Given the description of an element on the screen output the (x, y) to click on. 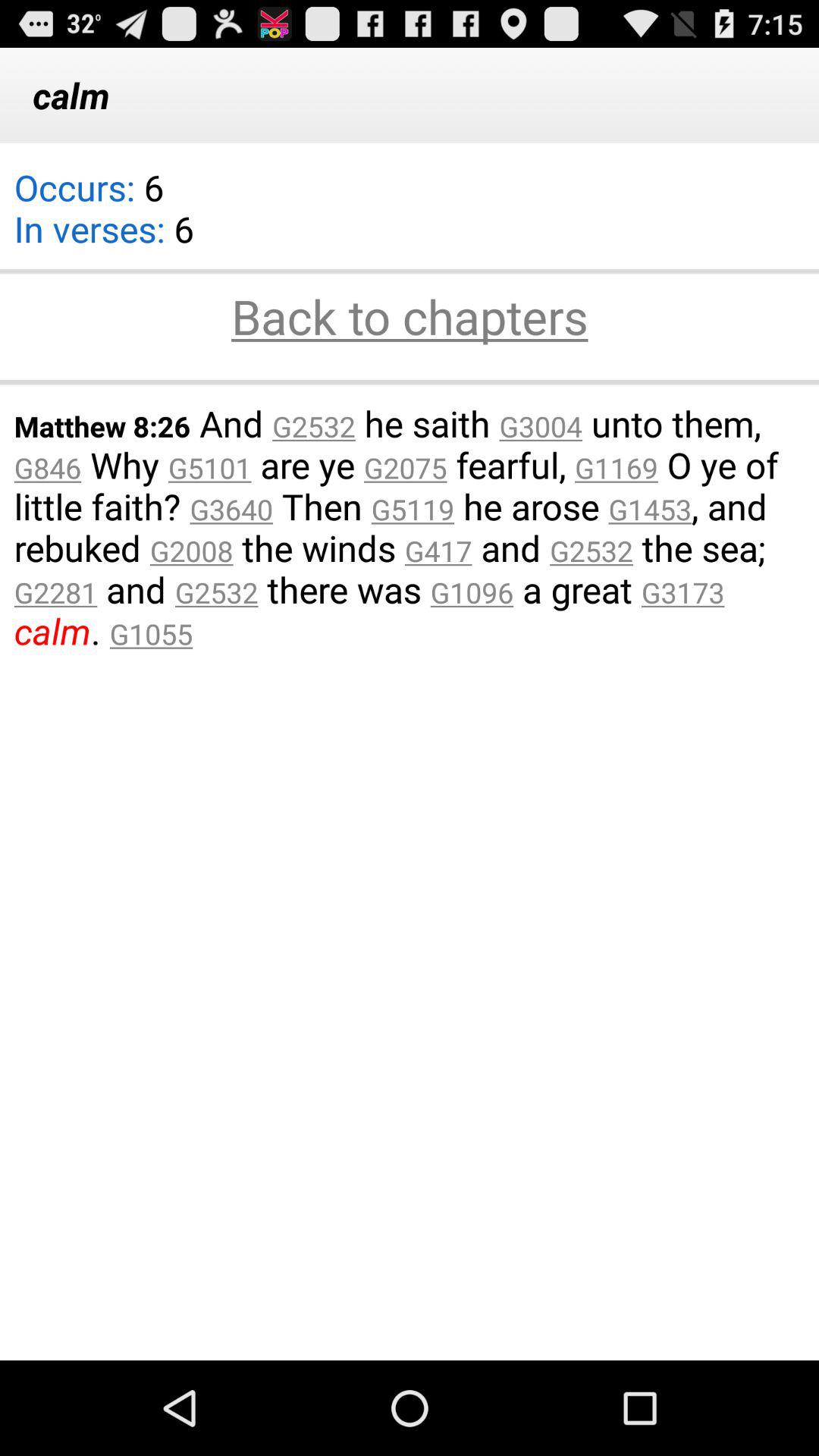
turn on matthew 8 26 icon (409, 527)
